Given the description of an element on the screen output the (x, y) to click on. 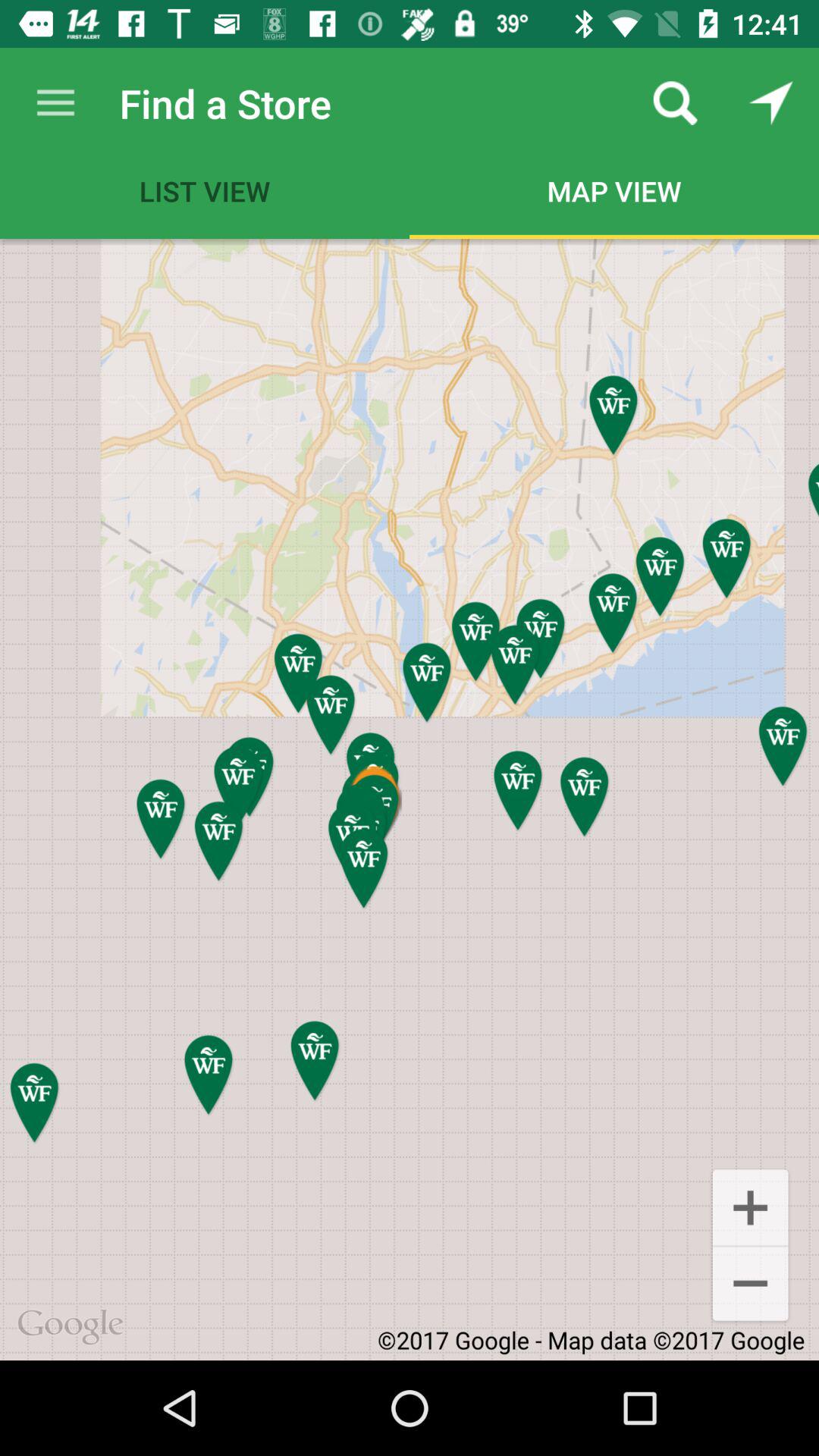
select item next to the find a store item (55, 103)
